Given the description of an element on the screen output the (x, y) to click on. 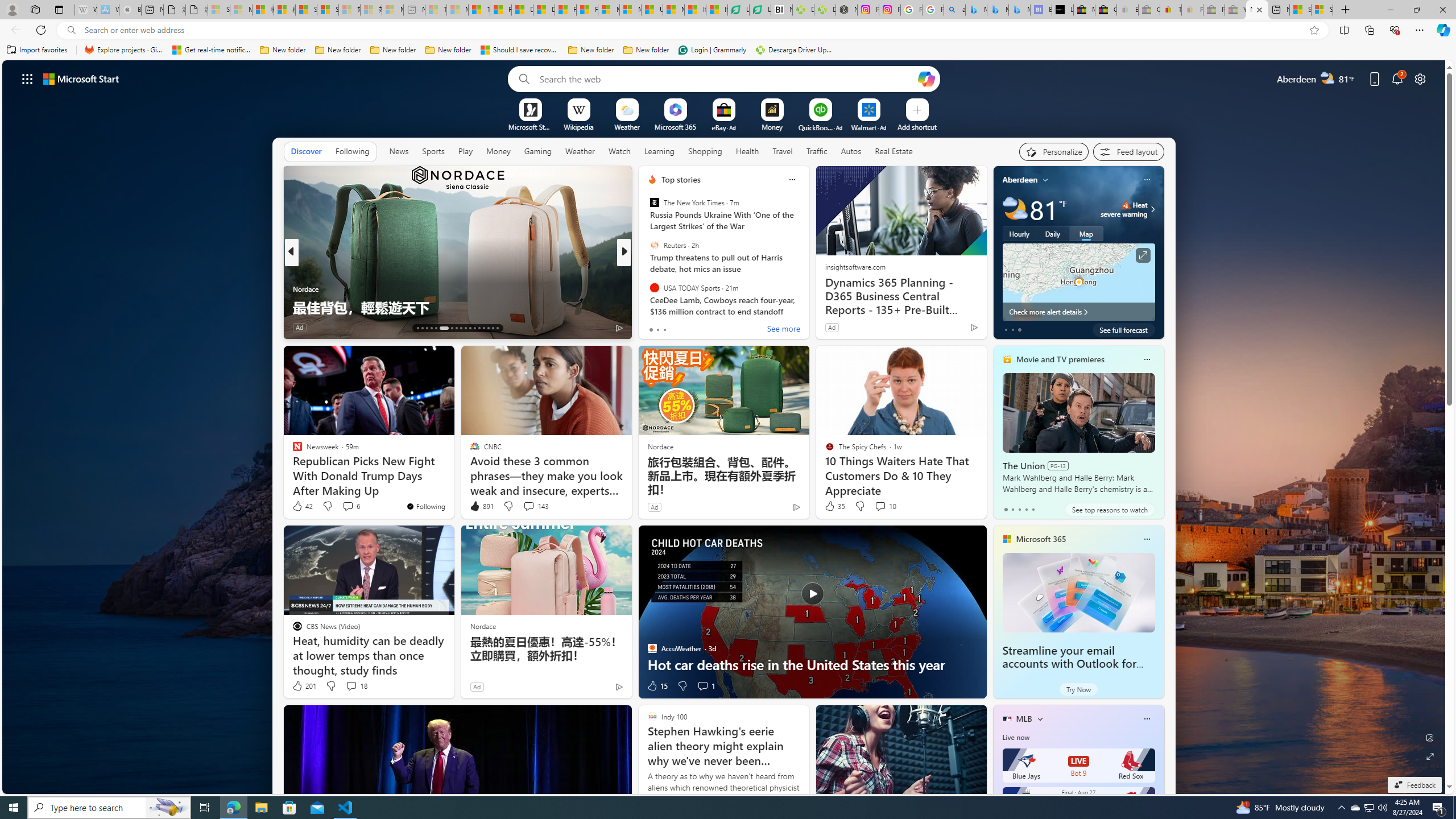
AutomationID: tab-24 (474, 328)
Partly cloudy (1014, 208)
Food and Drink - MSN (500, 9)
New folder (646, 49)
Top stories (680, 179)
Climate Crisis 247 (647, 270)
View comments 66 Comment (707, 327)
House Beautiful (647, 270)
891 Like (480, 505)
Hide this story (597, 359)
